Given the description of an element on the screen output the (x, y) to click on. 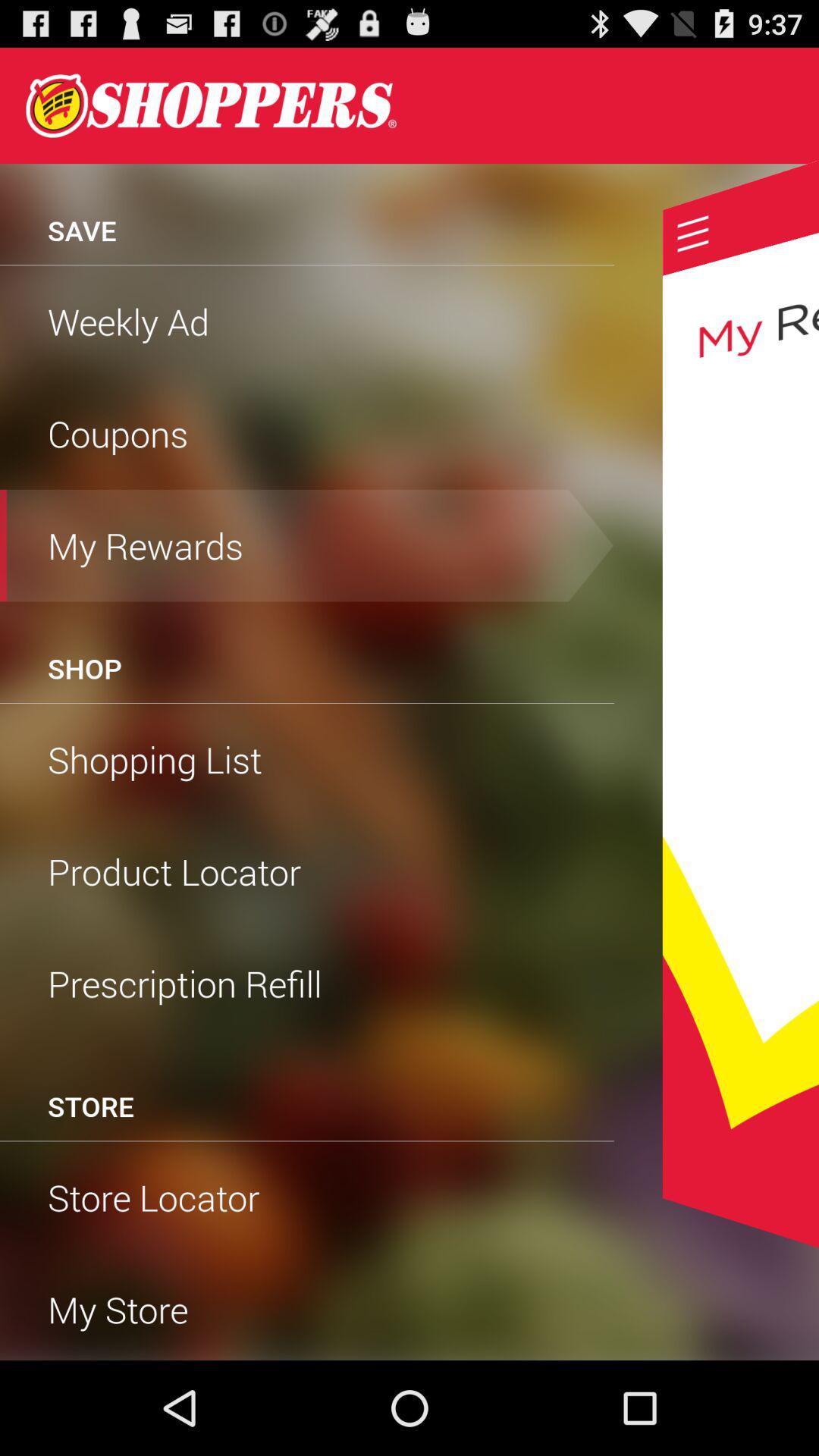
menu option (692, 233)
